Given the description of an element on the screen output the (x, y) to click on. 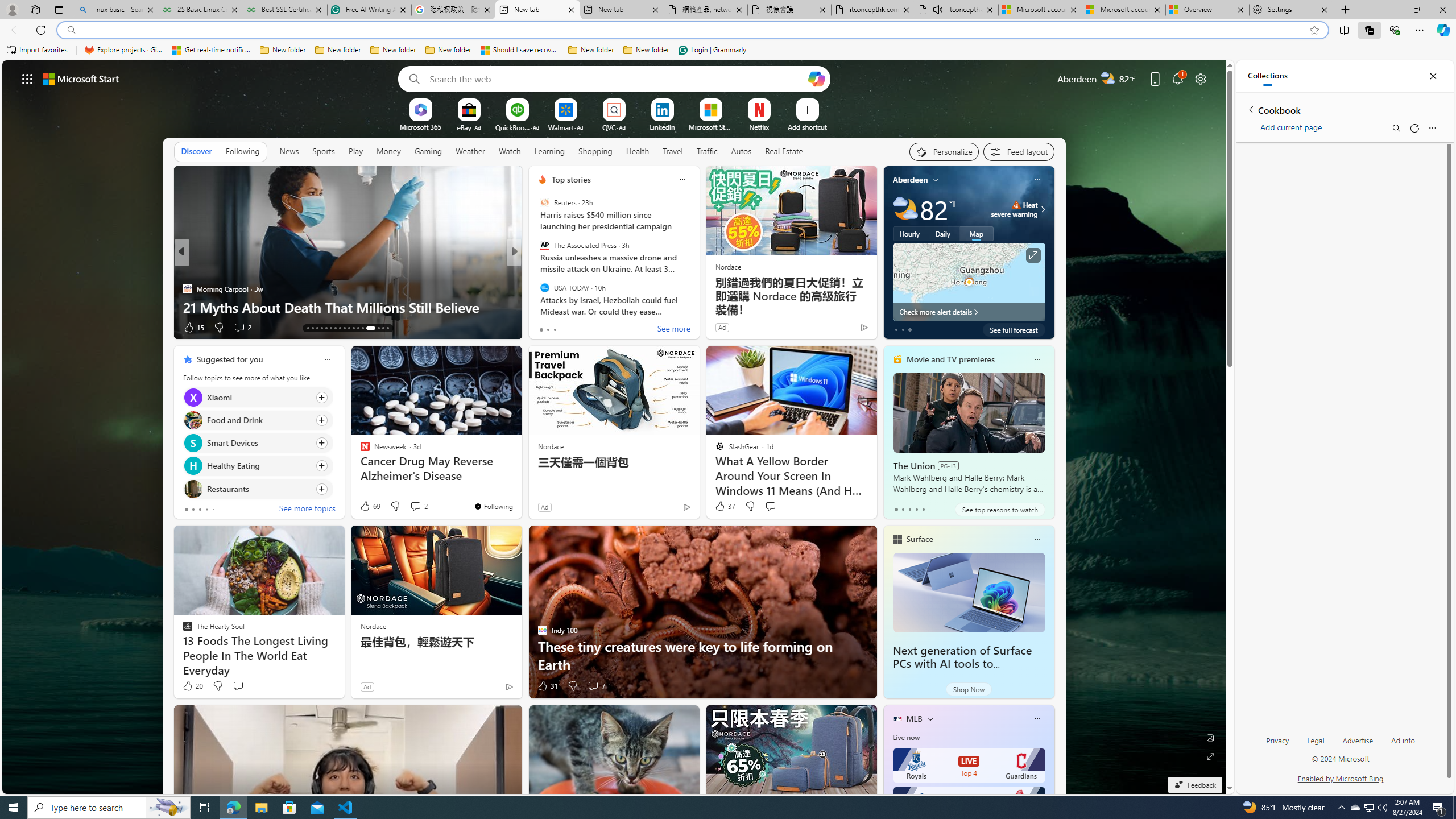
Shopping (595, 151)
View comments 1 Comment (592, 327)
USA TODAY (544, 287)
View comments 1 Comment (589, 327)
Ad info (1402, 745)
Heat - Severe (1015, 204)
Add current page (1286, 124)
Movie and TV premieres (949, 359)
View comments 2 Comment (414, 505)
